Given the description of an element on the screen output the (x, y) to click on. 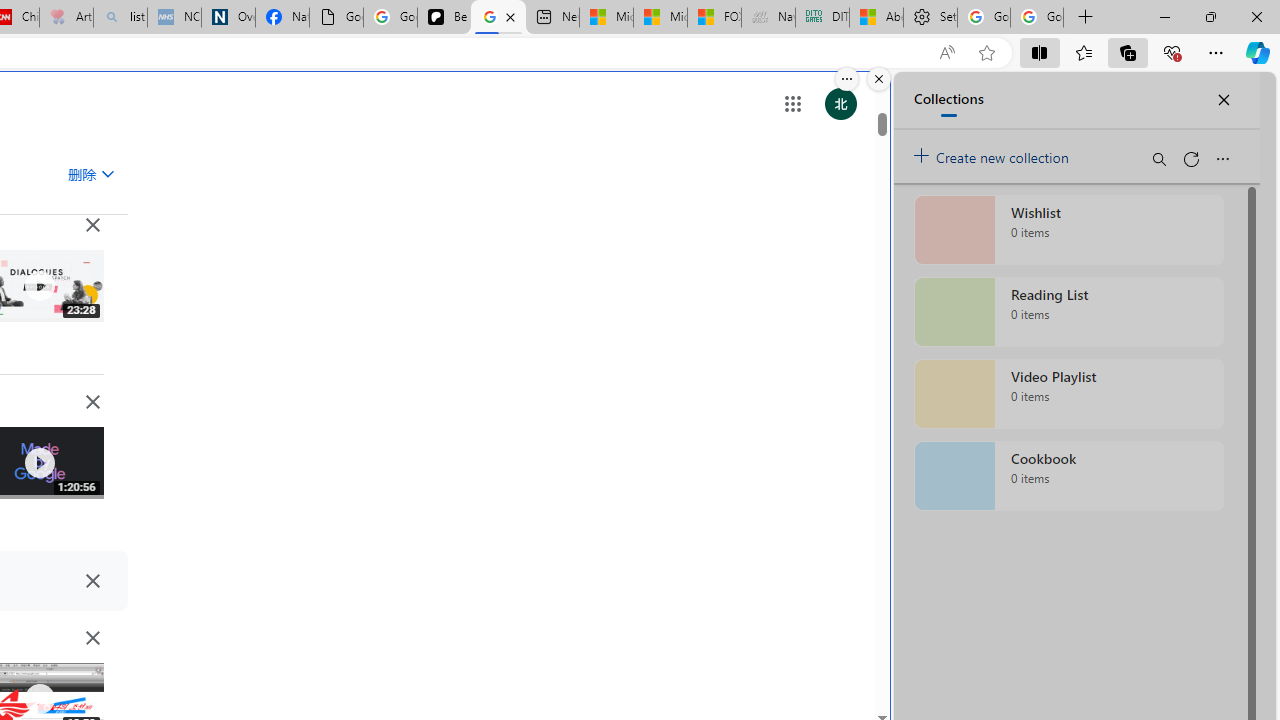
Aberdeen, Hong Kong SAR hourly forecast | Microsoft Weather (875, 17)
FOX News - MSN (714, 17)
Class: IVR0f NMm5M (38, 699)
DITOGAMES AG Imprint (822, 17)
Arthritis: Ask Health Professionals - Sleeping (66, 17)
Class: TjcpUd NMm5M (91, 637)
Navy Quest (768, 17)
Class: asE2Ub NMm5M (107, 173)
